Given the description of an element on the screen output the (x, y) to click on. 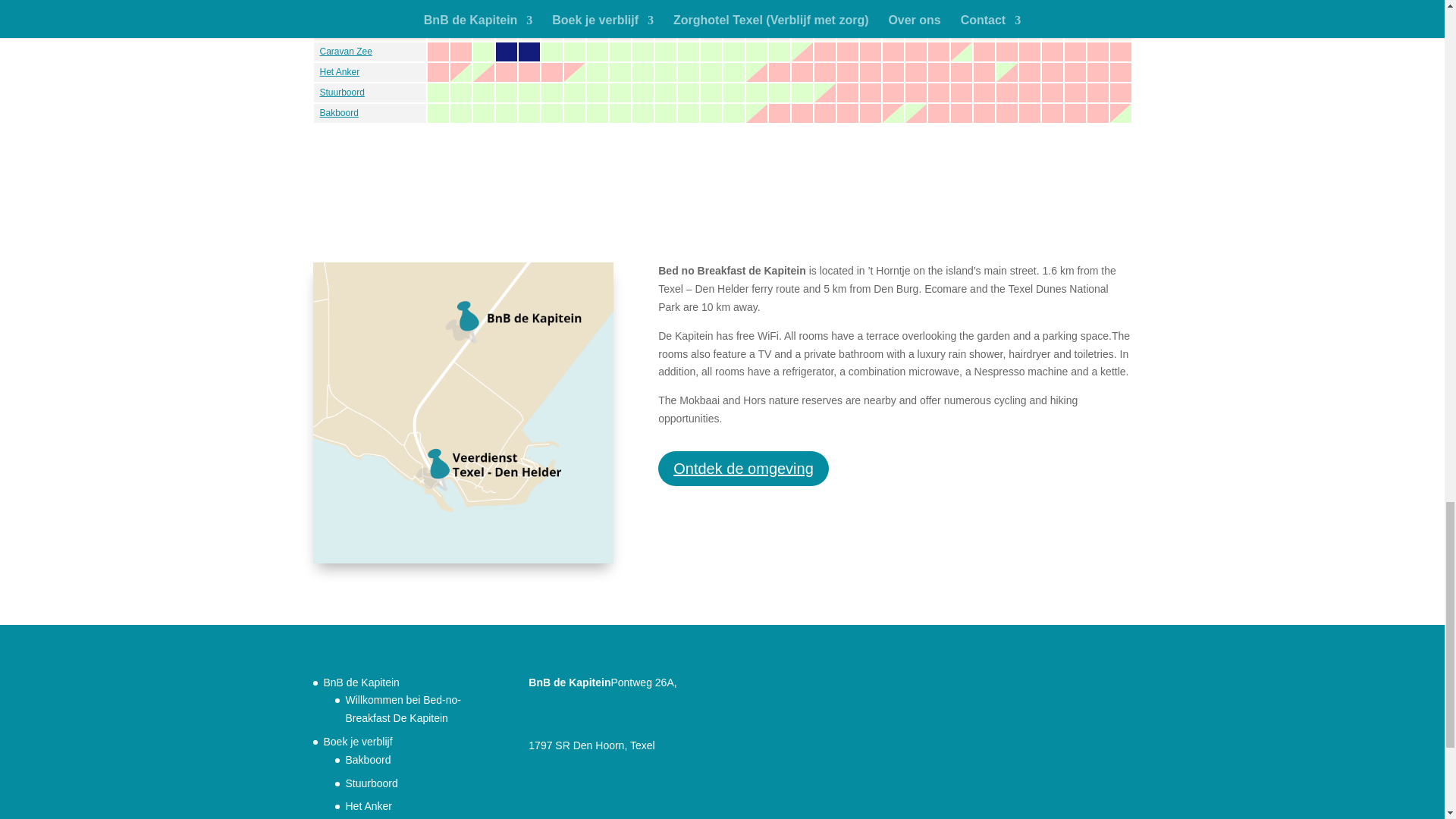
Caravan Zee (346, 50)
Stuurboord (342, 91)
Het Anker (339, 71)
Kaart-01 (462, 412)
